Given the description of an element on the screen output the (x, y) to click on. 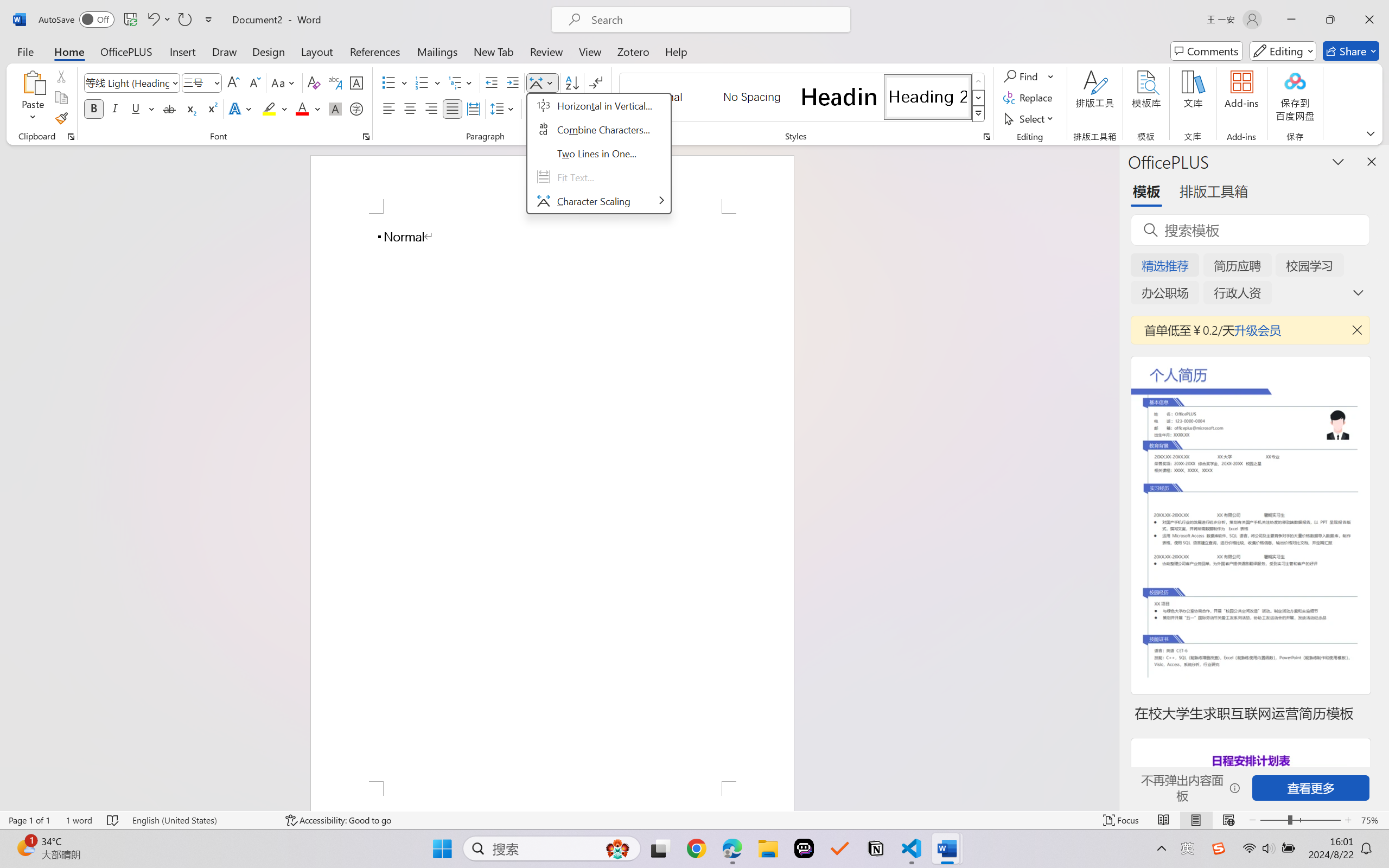
Class: MsoCommandBar (694, 819)
More Options (1051, 75)
Restore Down (1330, 19)
Text Effects and Typography (241, 108)
Justify (452, 108)
Save (130, 19)
Paste (33, 81)
Font Size (196, 82)
Bold (94, 108)
Font (132, 82)
Row up (978, 81)
